Given the description of an element on the screen output the (x, y) to click on. 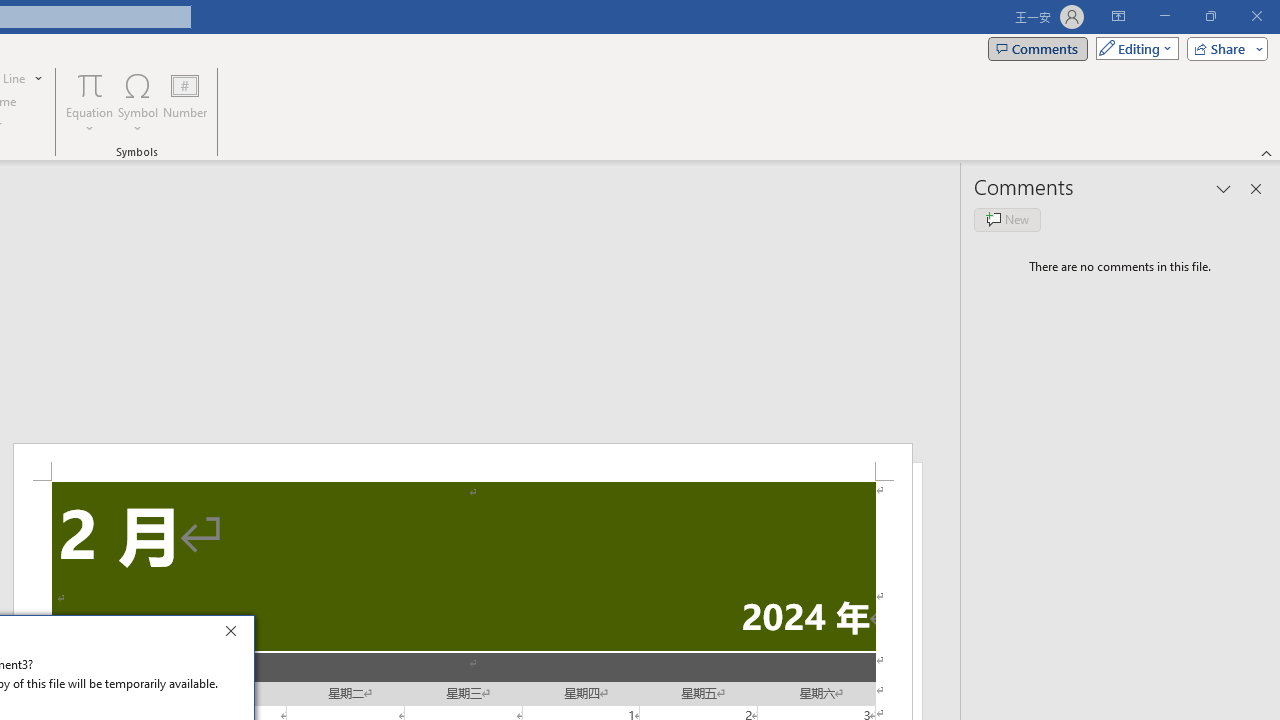
Equation (90, 102)
Equation (90, 84)
